Given the description of an element on the screen output the (x, y) to click on. 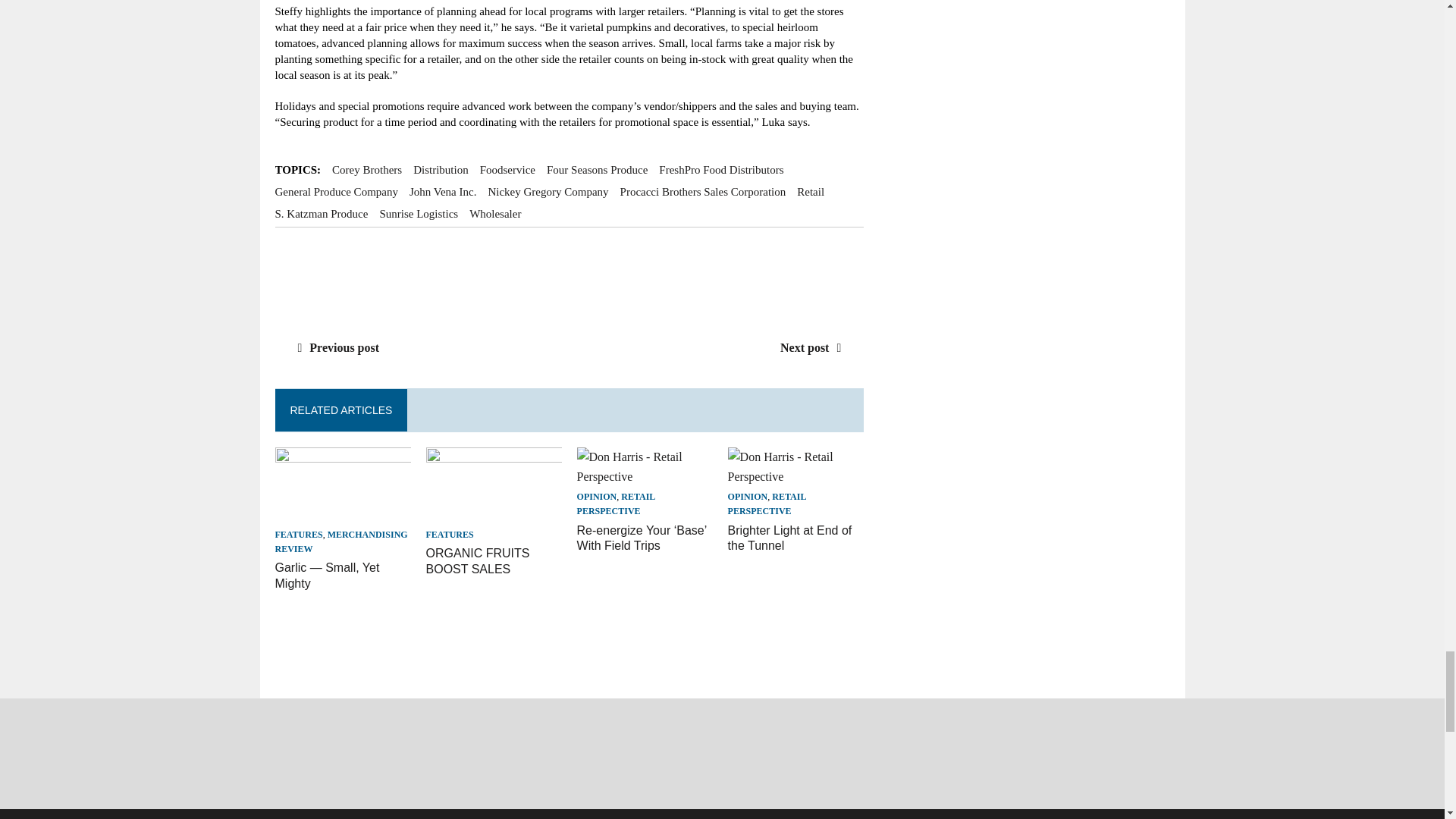
ORGANIC FRUITS BOOST SALES (494, 513)
3rd party ad content (551, 649)
Brighter Light at End of the Tunnel (789, 538)
ORGANIC FRUITS BOOST SALES (477, 561)
Brighter Light at End of the Tunnel (796, 476)
3rd party ad content (569, 276)
